Given the description of an element on the screen output the (x, y) to click on. 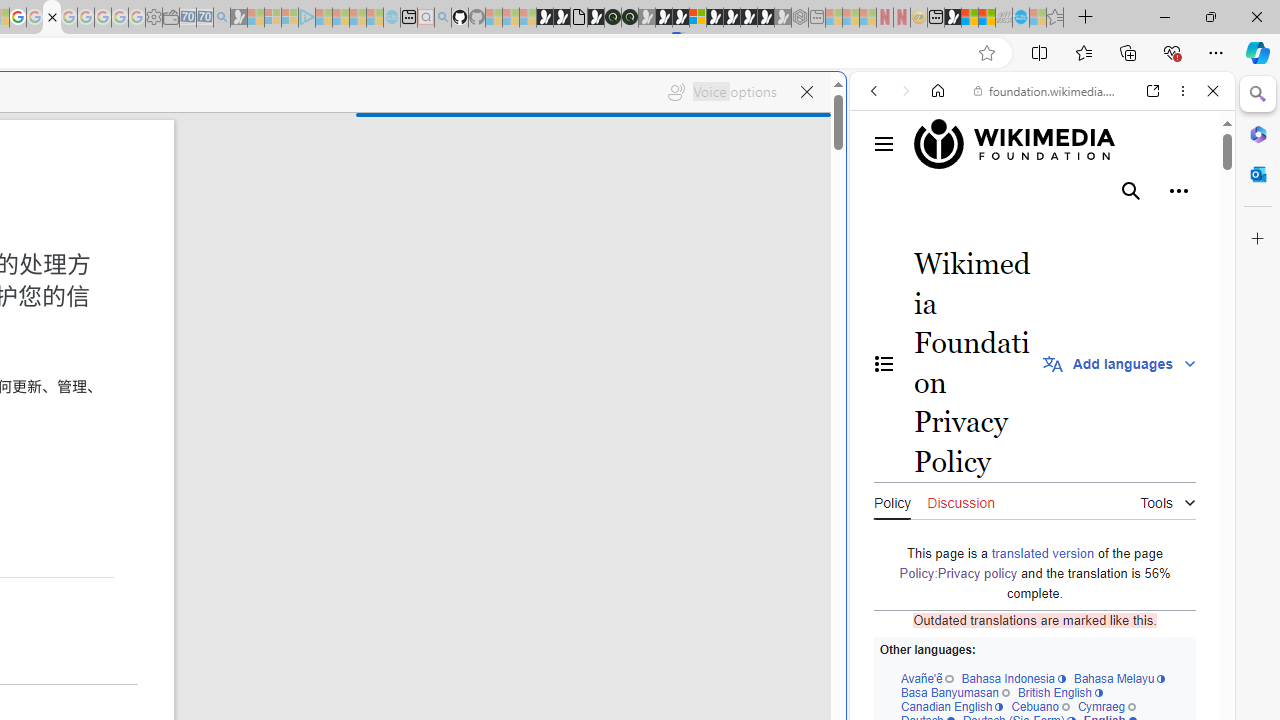
VIDEOS (1006, 228)
Main menu (883, 143)
Cymraeg (1106, 706)
Open link in new tab (1153, 91)
Future Focus Report 2024 (629, 17)
Close read aloud (805, 92)
Microsoft Start - Sleeping (357, 17)
Basa Banyumasan (954, 691)
Canadian English (951, 706)
